Given the description of an element on the screen output the (x, y) to click on. 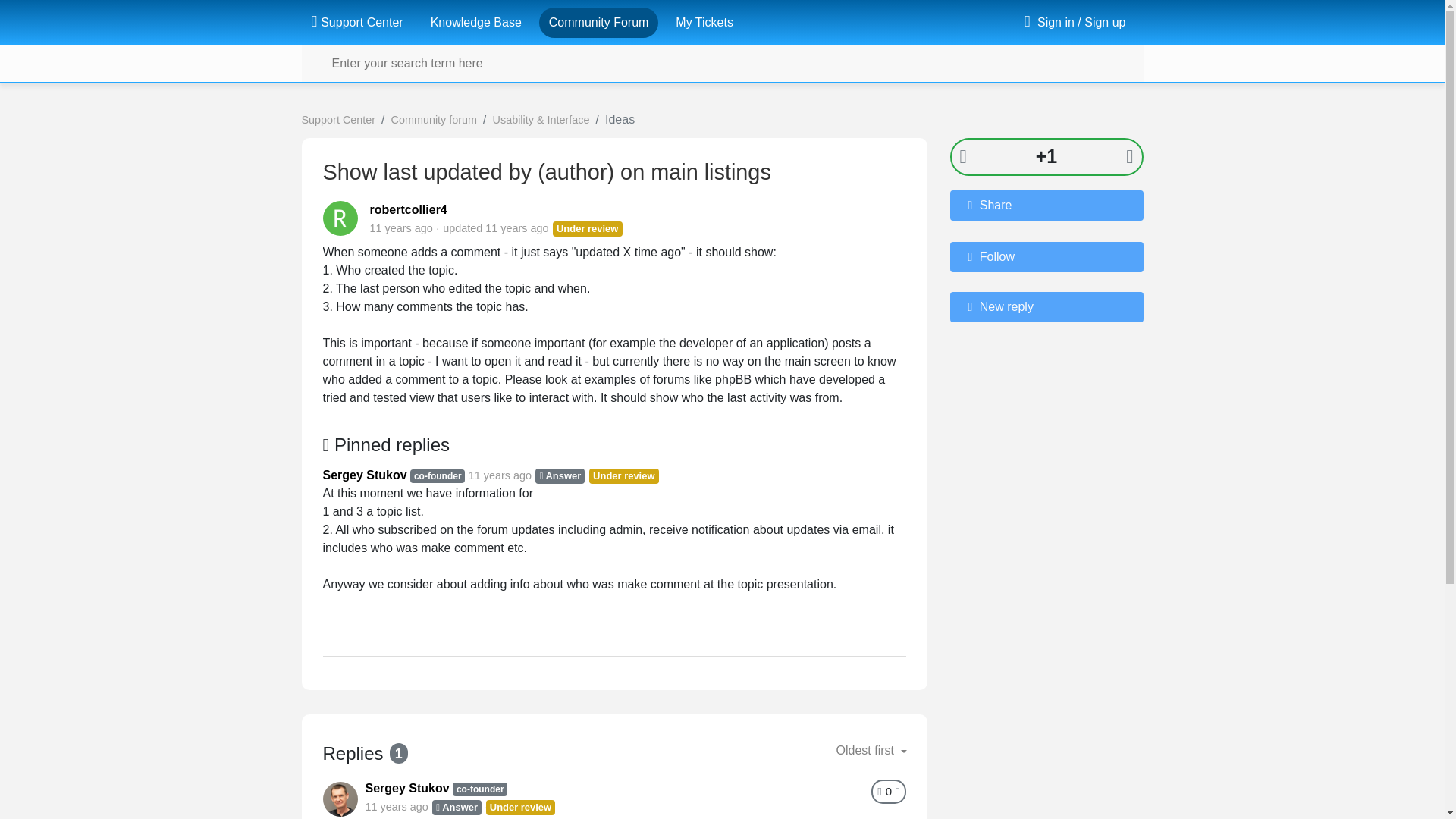
April 8, 2013 12:01 p.m. (499, 475)
Sergey Stukov (365, 474)
Knowledge Base (476, 22)
Sergey Stukov (407, 788)
New reply (1045, 306)
Support Center (338, 119)
April 5, 2013 2:13 p.m. (400, 227)
My Tickets (704, 22)
Community Forum (599, 22)
robertcollier4 (407, 209)
